Given the description of an element on the screen output the (x, y) to click on. 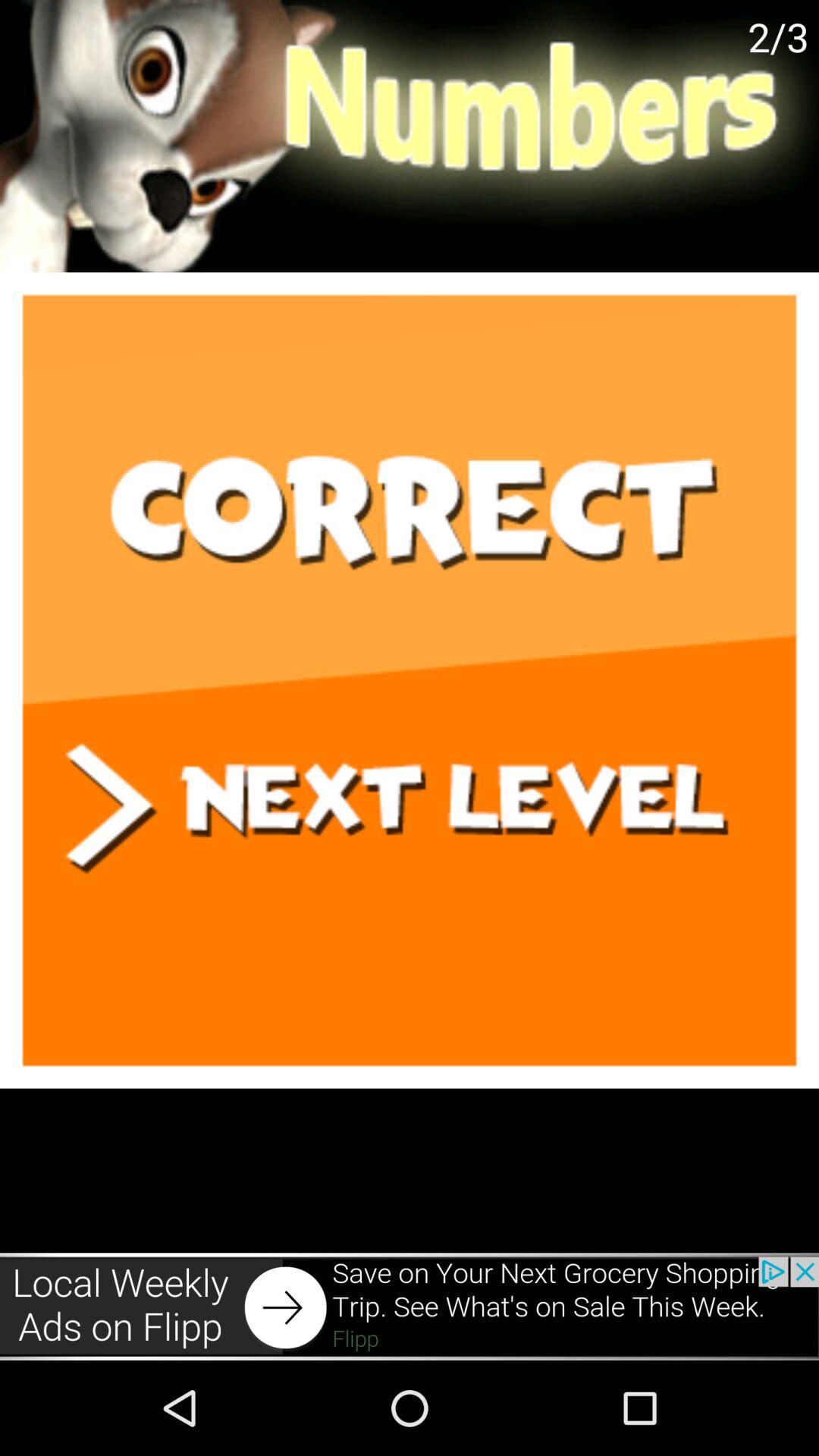
go to advertisement (409, 1306)
